Given the description of an element on the screen output the (x, y) to click on. 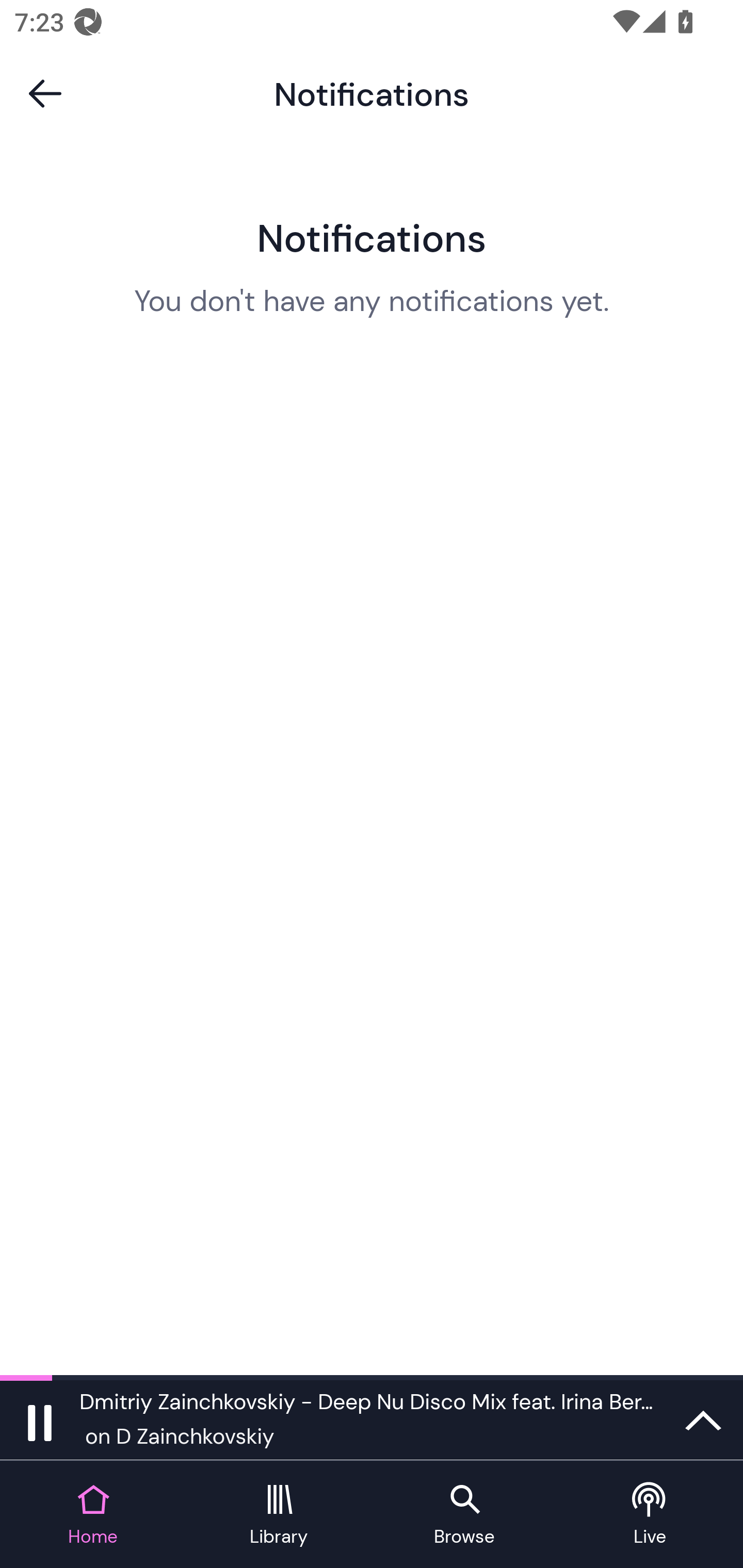
Home tab Home (92, 1515)
Library tab Library (278, 1515)
Browse tab Browse (464, 1515)
Live tab Live (650, 1515)
